Given the description of an element on the screen output the (x, y) to click on. 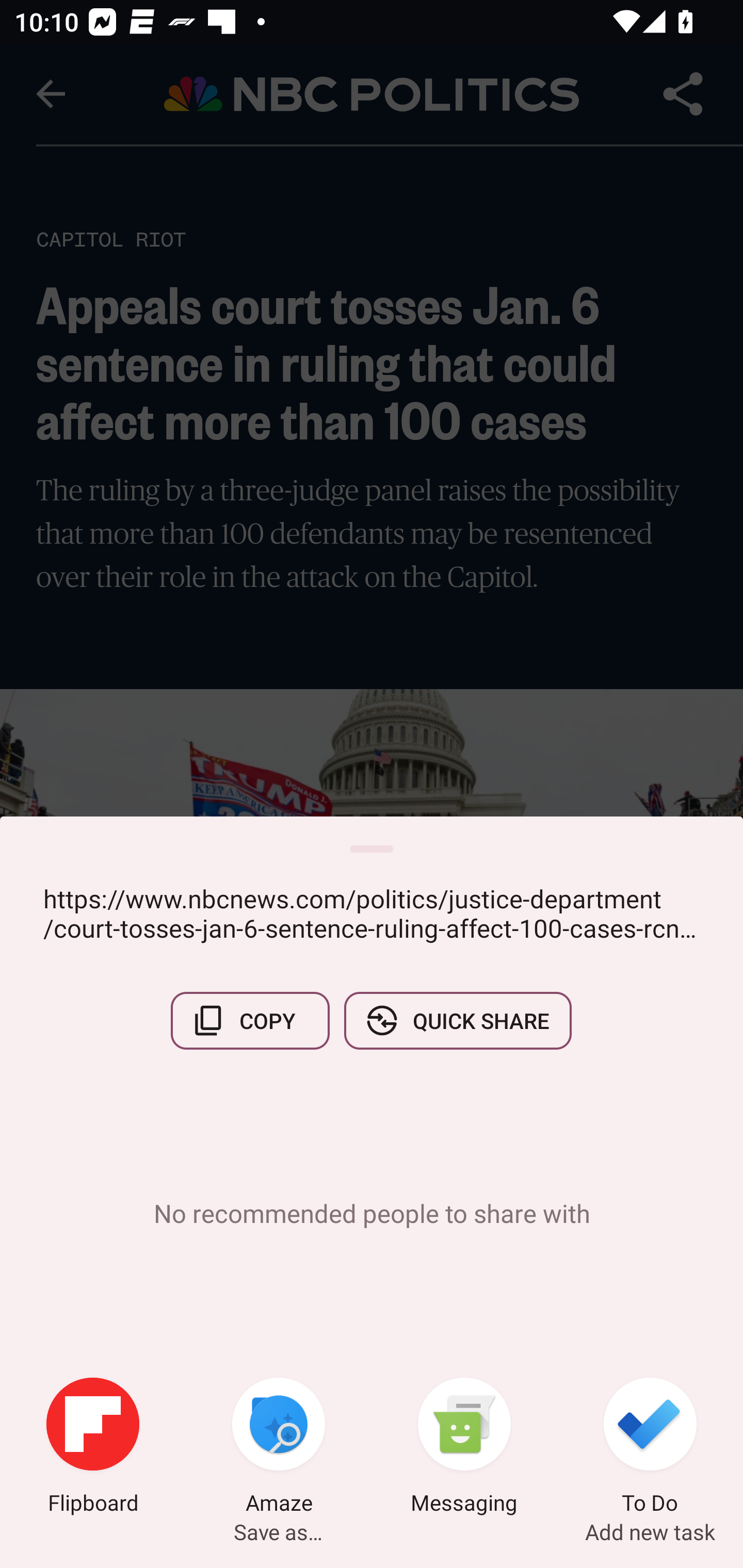
COPY (249, 1020)
QUICK SHARE (457, 1020)
Flipboard (92, 1448)
Amaze Save as… (278, 1448)
Messaging (464, 1448)
To Do Add new task (650, 1448)
